Given the description of an element on the screen output the (x, y) to click on. 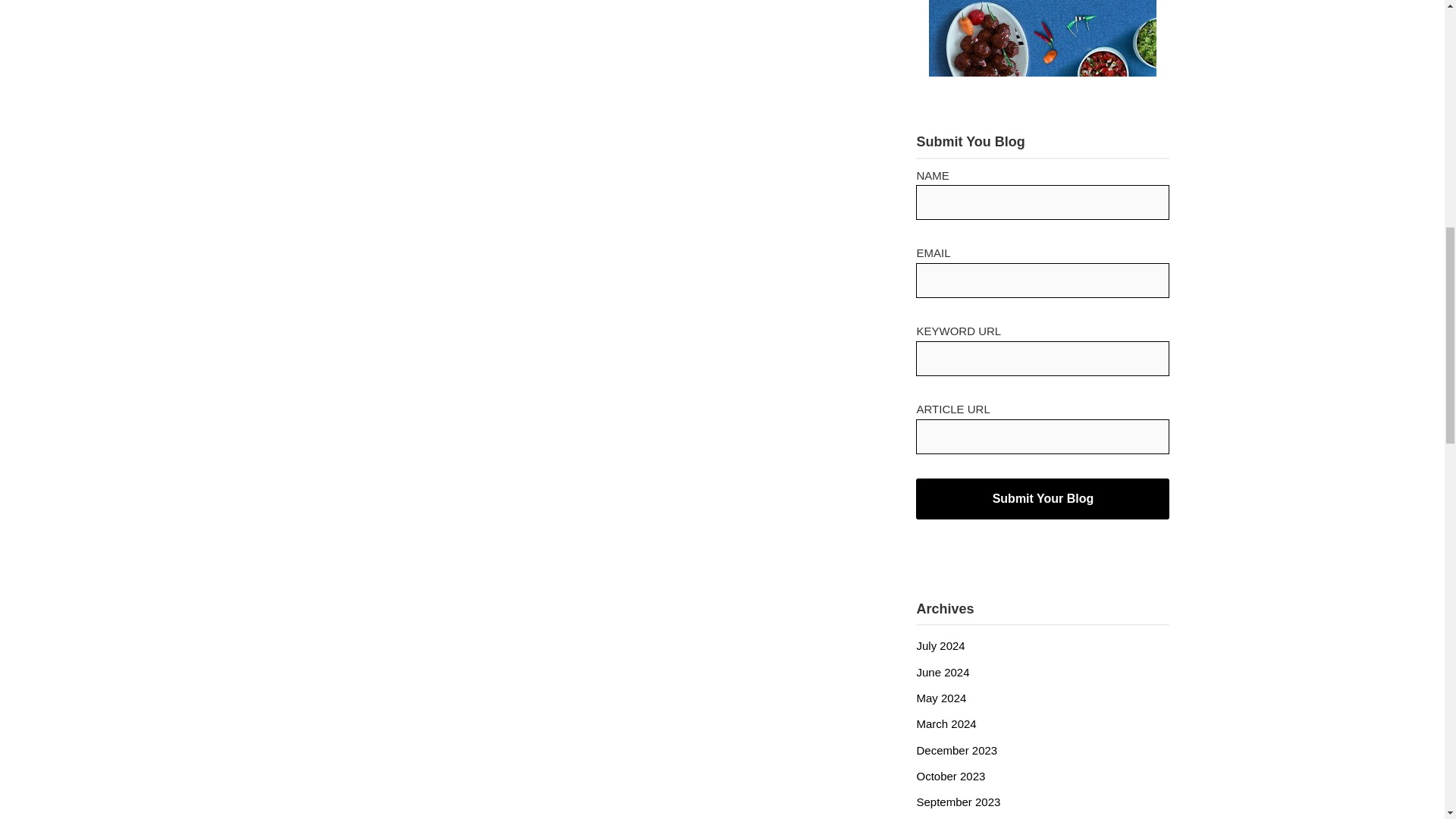
September 2023 (957, 801)
Submit Your Blog (1042, 498)
December 2023 (956, 749)
March 2024 (945, 723)
June 2024 (942, 671)
October 2023 (950, 775)
Submit Your Blog (1042, 498)
May 2024 (940, 697)
July 2024 (939, 645)
